Given the description of an element on the screen output the (x, y) to click on. 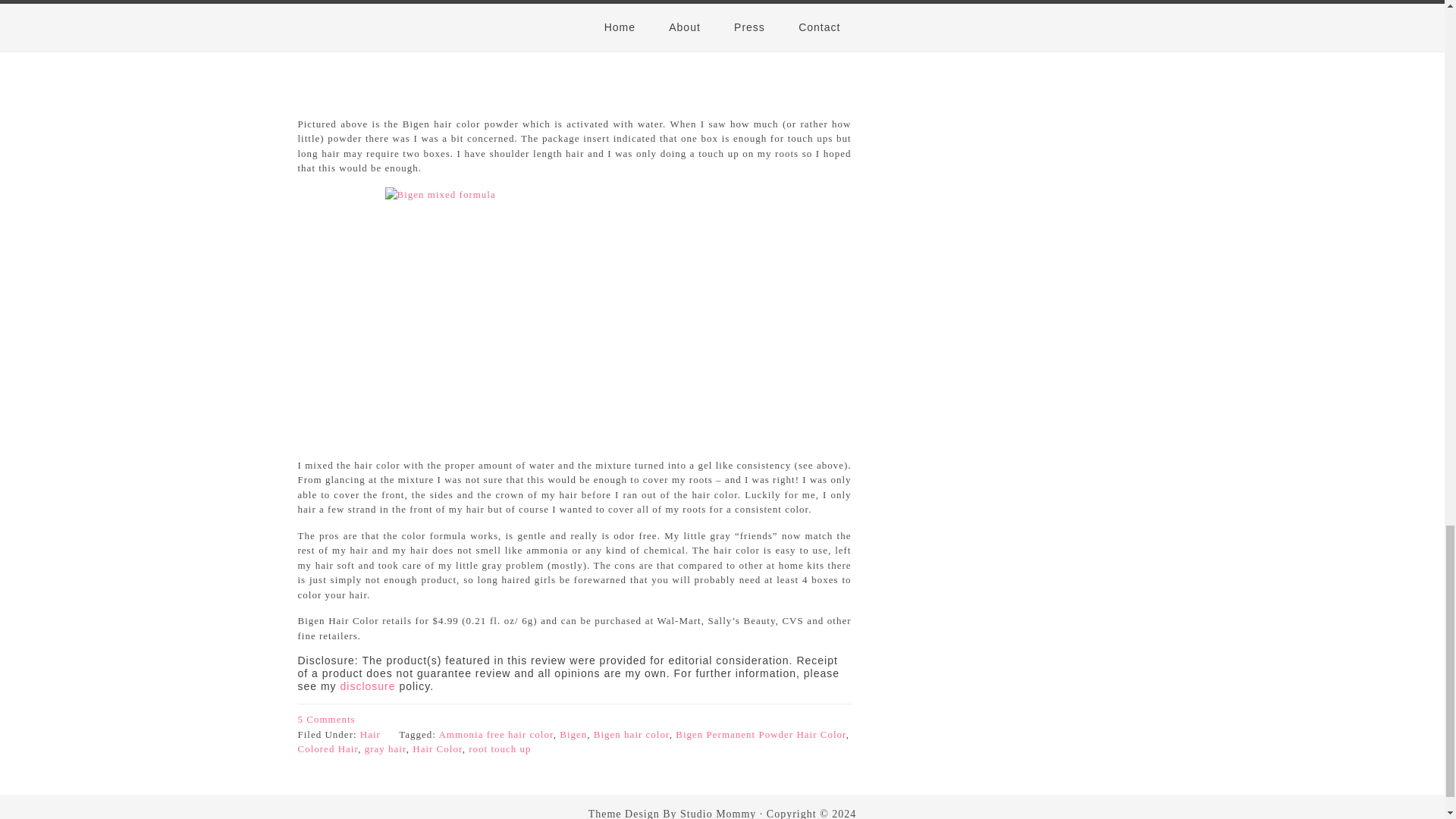
5 Comments (326, 718)
Colored Hair (327, 748)
Bigen hair color (631, 734)
Bigen (572, 734)
Disclosure (368, 686)
bigen-hair-color-mixed (574, 312)
disclosure (368, 686)
root touch up (499, 748)
Bigen Permanent Powder Hair Color (760, 734)
Ammonia free hair color (495, 734)
